Given the description of an element on the screen output the (x, y) to click on. 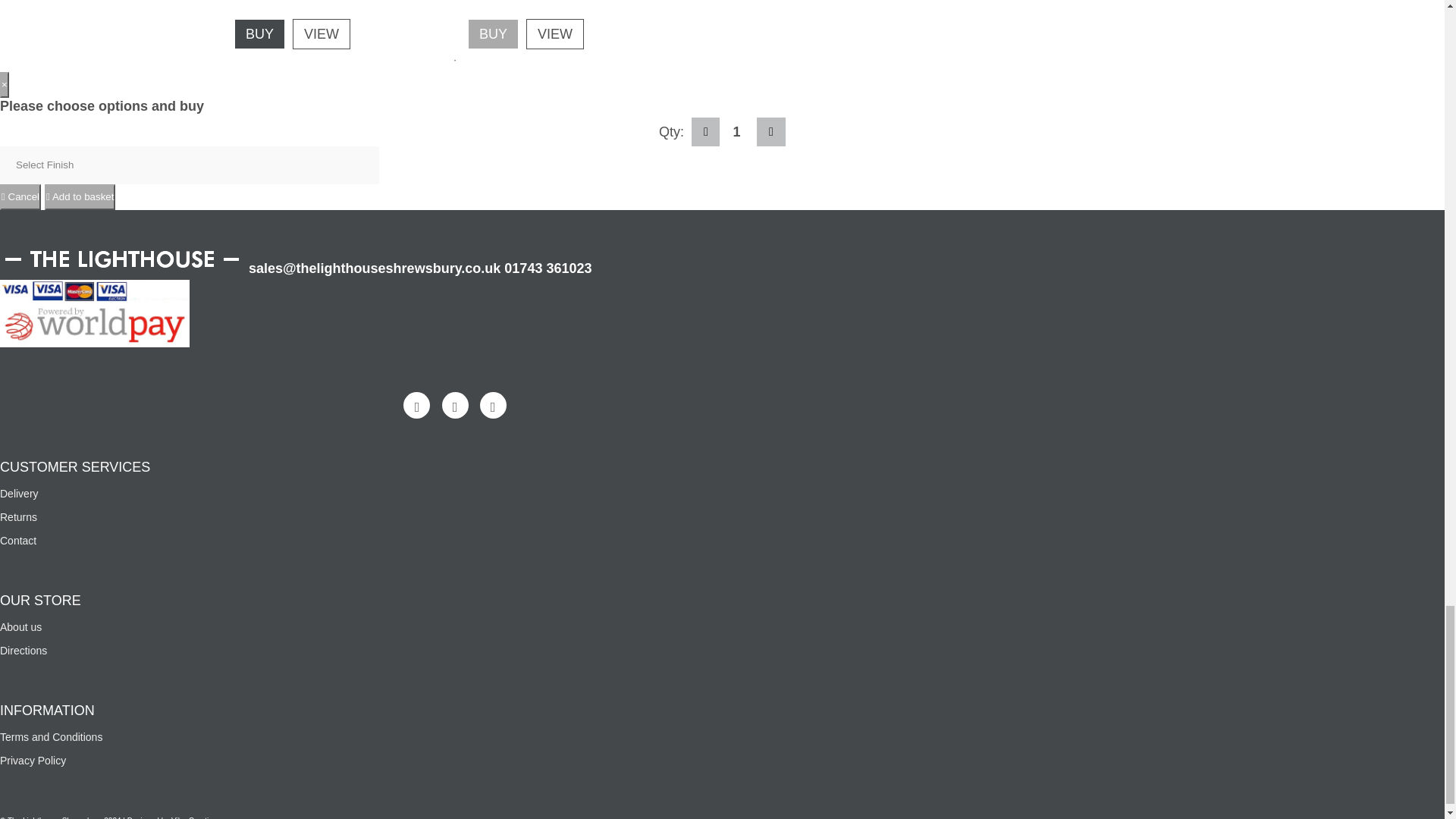
1 (738, 131)
